Given the description of an element on the screen output the (x, y) to click on. 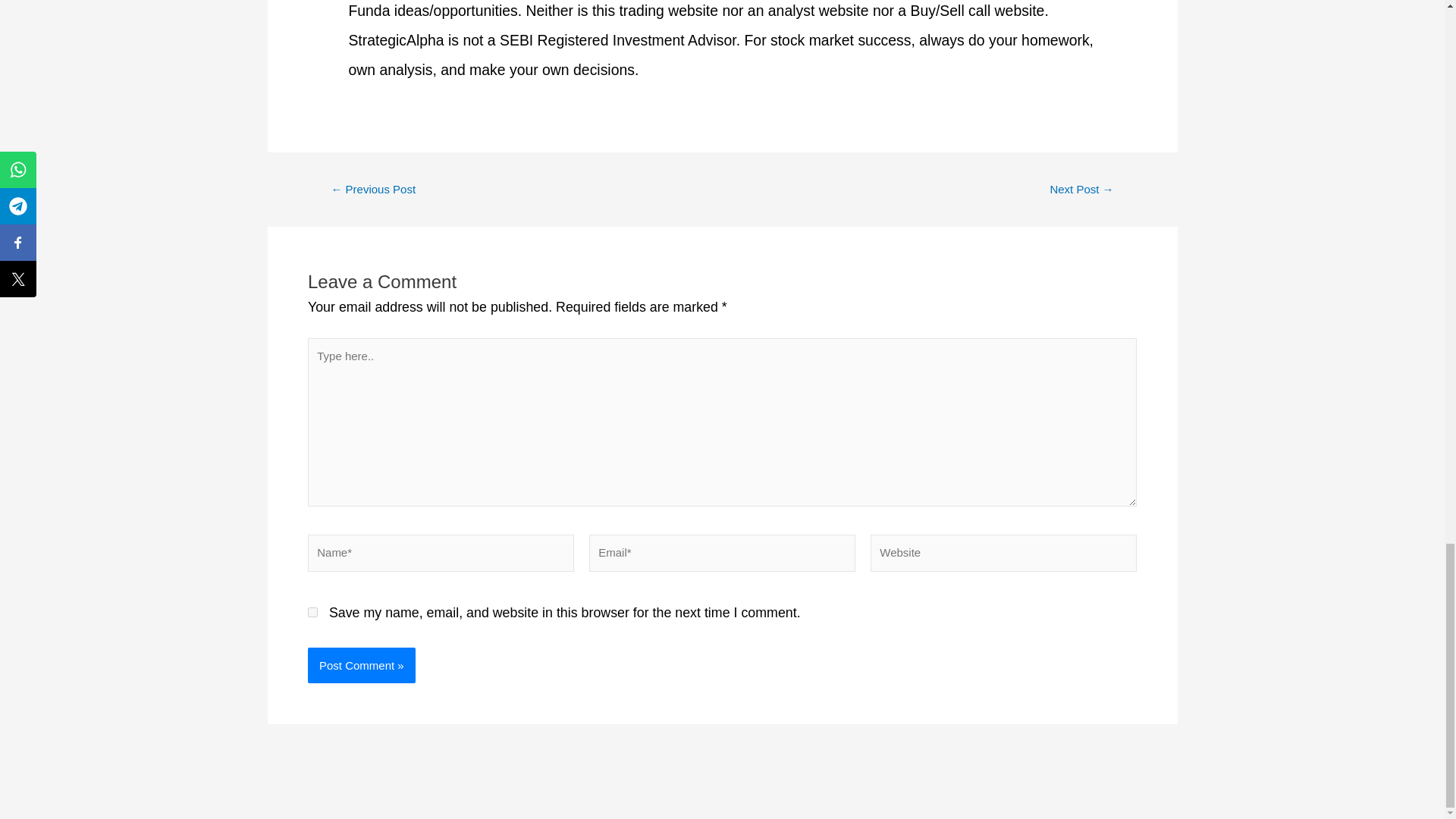
yes (312, 612)
